Given the description of an element on the screen output the (x, y) to click on. 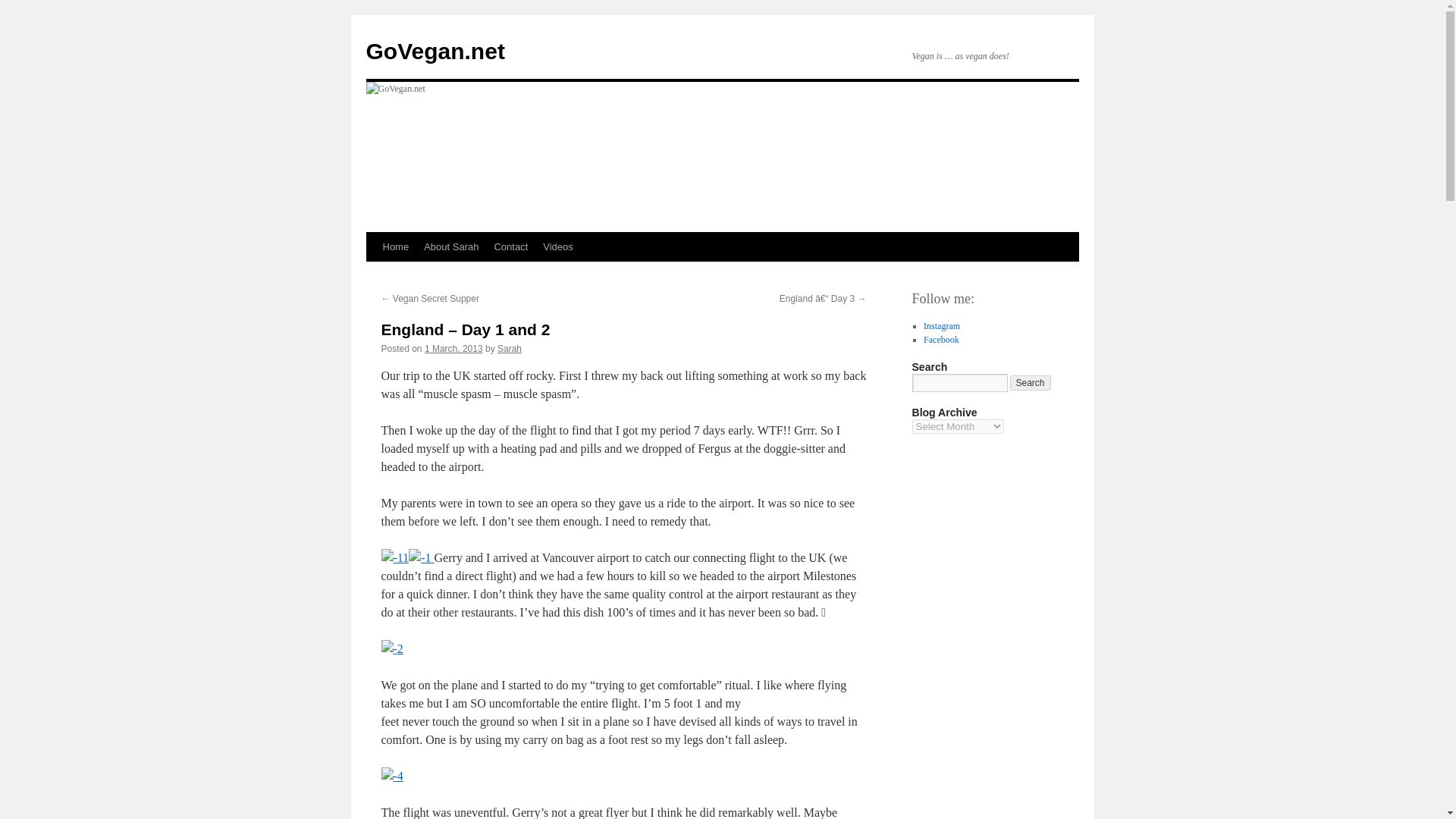
Contact (510, 246)
Home (395, 246)
Search (1030, 382)
1 March, 2013 (454, 348)
View all posts by Sarah (509, 348)
About Sarah (451, 246)
Sarah (509, 348)
Videos (557, 246)
2:51 pm (454, 348)
GoVegan.net (434, 50)
